Given the description of an element on the screen output the (x, y) to click on. 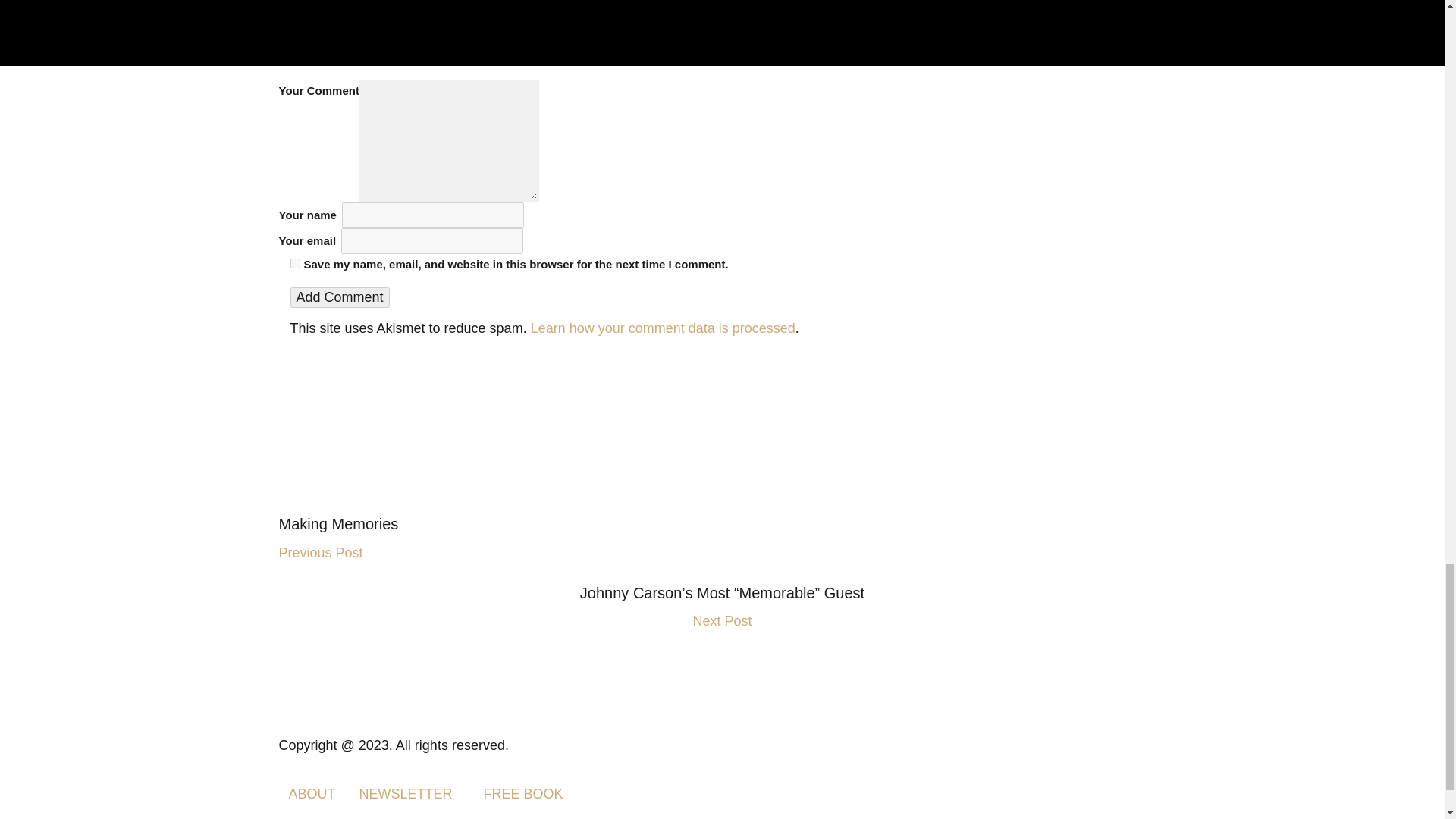
Add Comment (338, 297)
yes (294, 263)
HERE (805, 4)
Add Comment (338, 297)
